Given the description of an element on the screen output the (x, y) to click on. 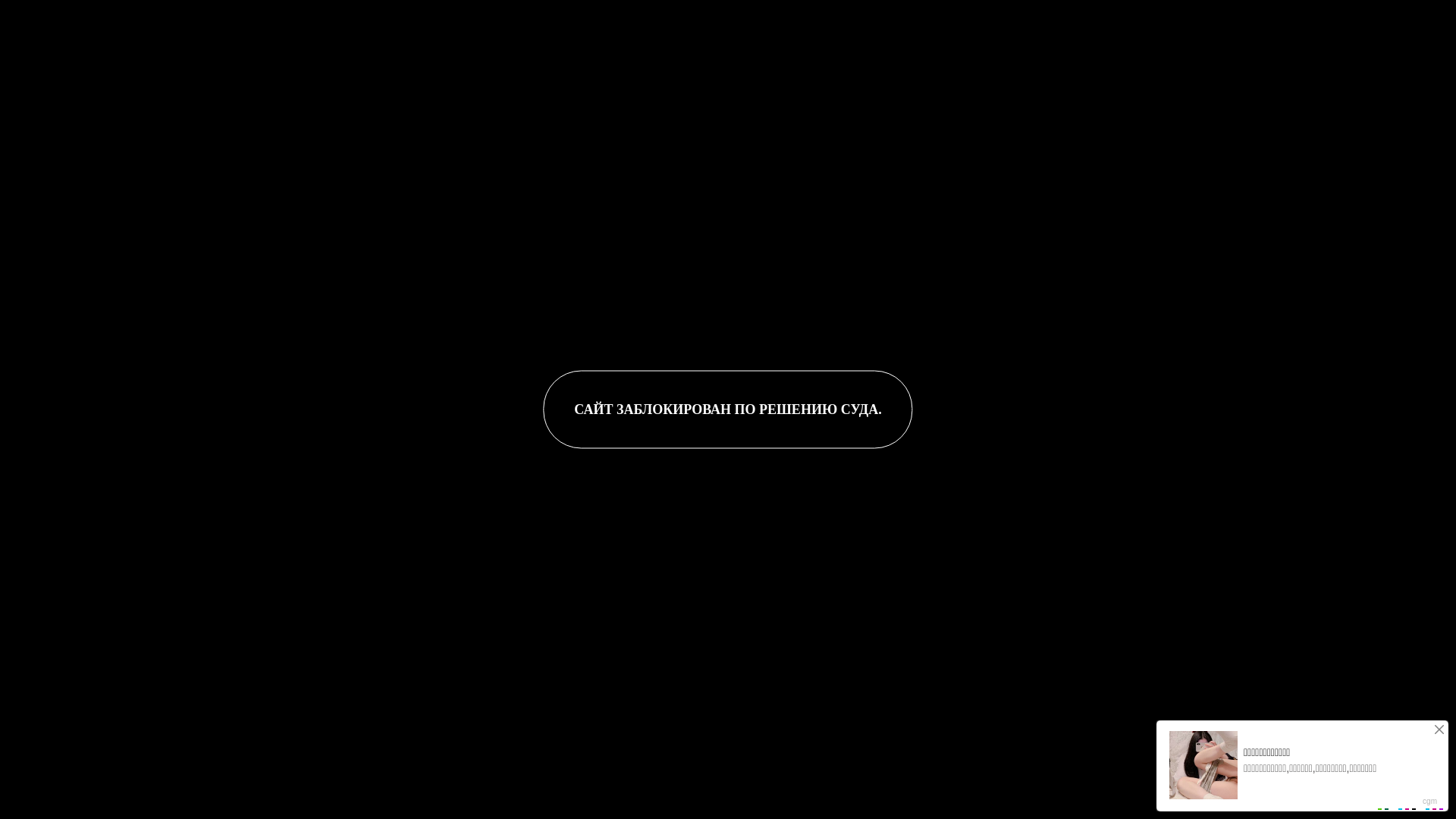
Home Element type: text (23, 140)
Go! Element type: text (493, 18)
Hindi Element type: text (156, 140)
10326
00:10:07 Element type: text (728, 617)
8126
00:01:07 Element type: text (728, 304)
Video archive Element type: text (89, 140)
116790
00:15:14 Element type: text (1200, 304)
104458
00:00:54 Element type: text (254, 304)
1693
00:07:45 Element type: text (254, 617)
6020
00:06:16 Element type: text (1200, 617)
